Given the description of an element on the screen output the (x, y) to click on. 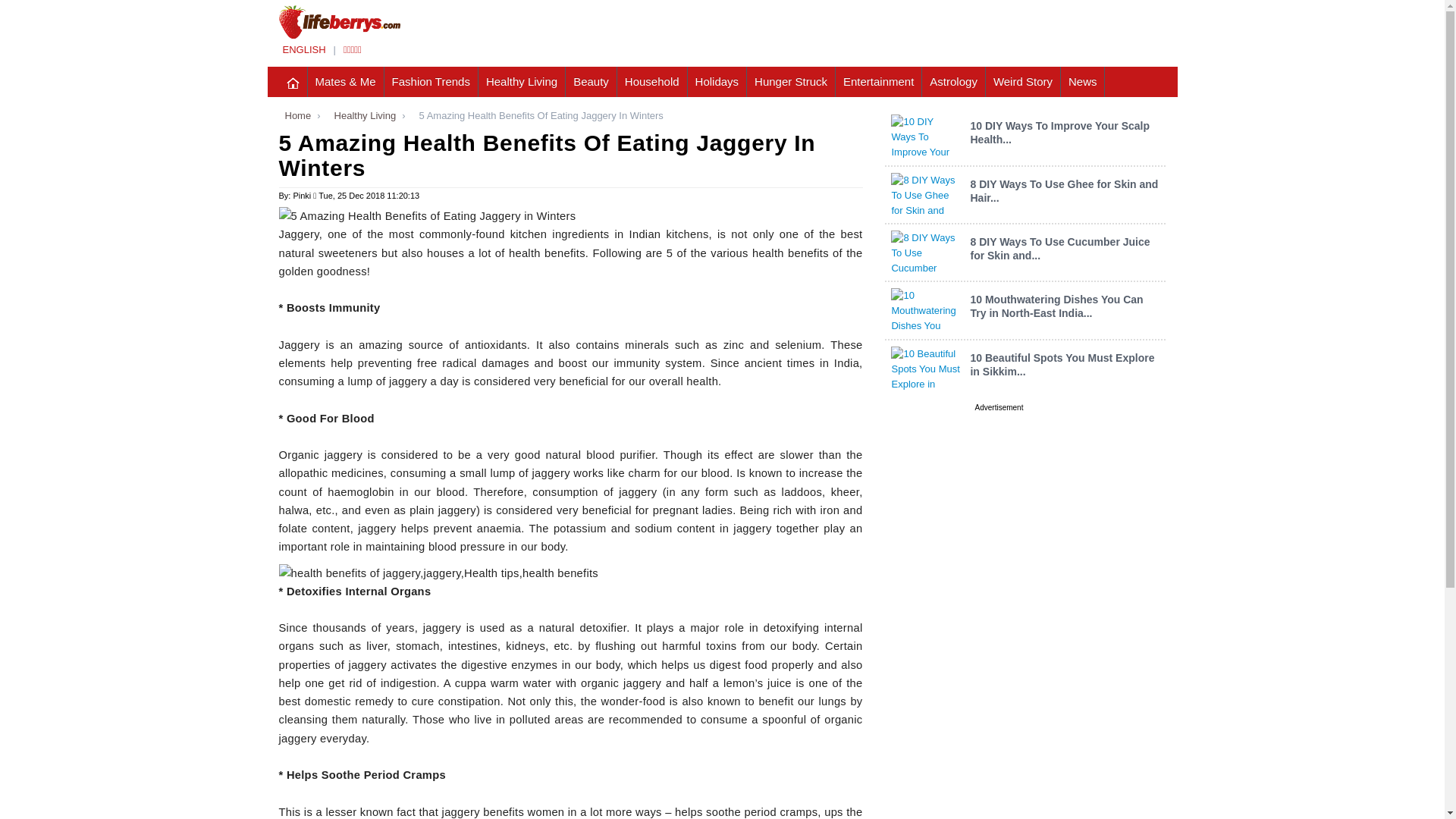
Household (652, 81)
News (1083, 81)
Weird Story, Bizare News, AjabGajab News (1023, 81)
ENGLISH (303, 49)
Healthy Living (362, 115)
Healthy Living (522, 81)
lifeberrys.com (303, 49)
5 Amazing Health Benefits of Eating Jaggery in Winters (571, 155)
Home (295, 115)
Beauty, Beauty Tips, Beauty Care (591, 81)
Beauty (591, 81)
Home (295, 115)
Astrology (953, 81)
10 DIY Ways To Improve Your Scalp Health... (1059, 132)
Hunger Struck, Recipes (790, 81)
